Given the description of an element on the screen output the (x, y) to click on. 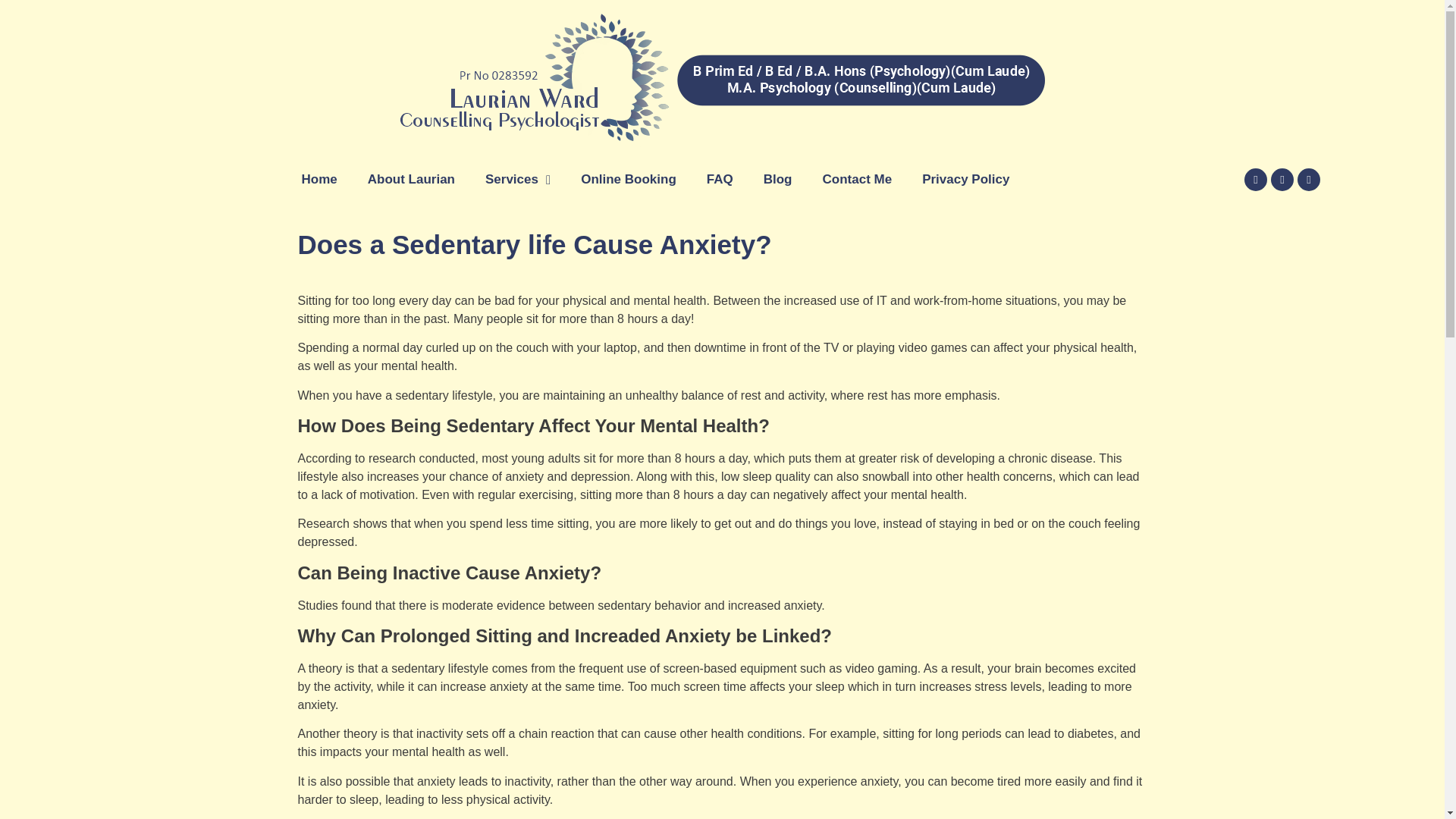
About Laurian (411, 179)
Services (518, 179)
Blog (778, 179)
Online Booking (628, 179)
FAQ (719, 179)
Home (319, 179)
Contact Me (857, 179)
Privacy Policy (966, 179)
